Given the description of an element on the screen output the (x, y) to click on. 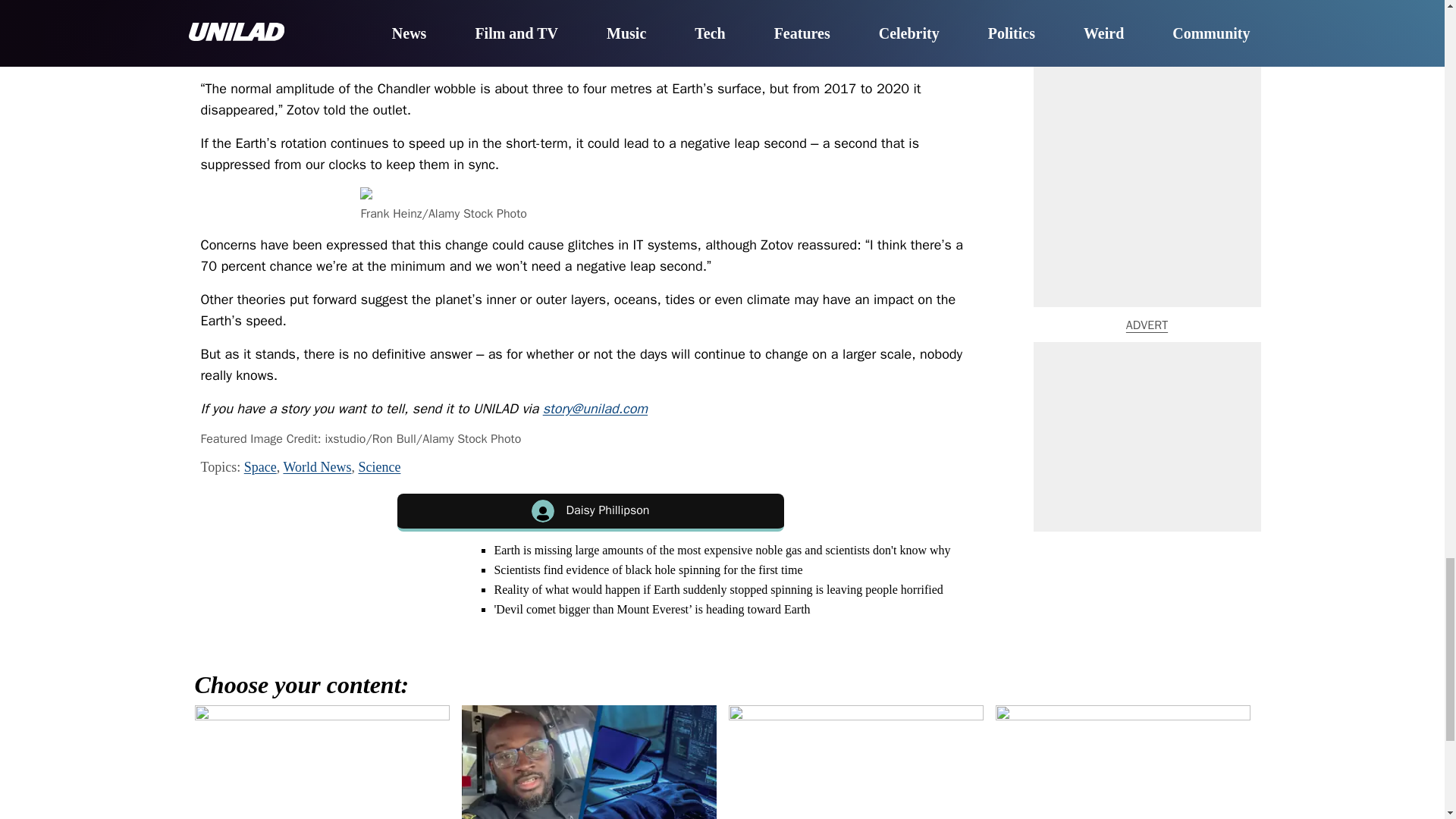
Science (379, 467)
World News (316, 467)
Space (260, 467)
